Given the description of an element on the screen output the (x, y) to click on. 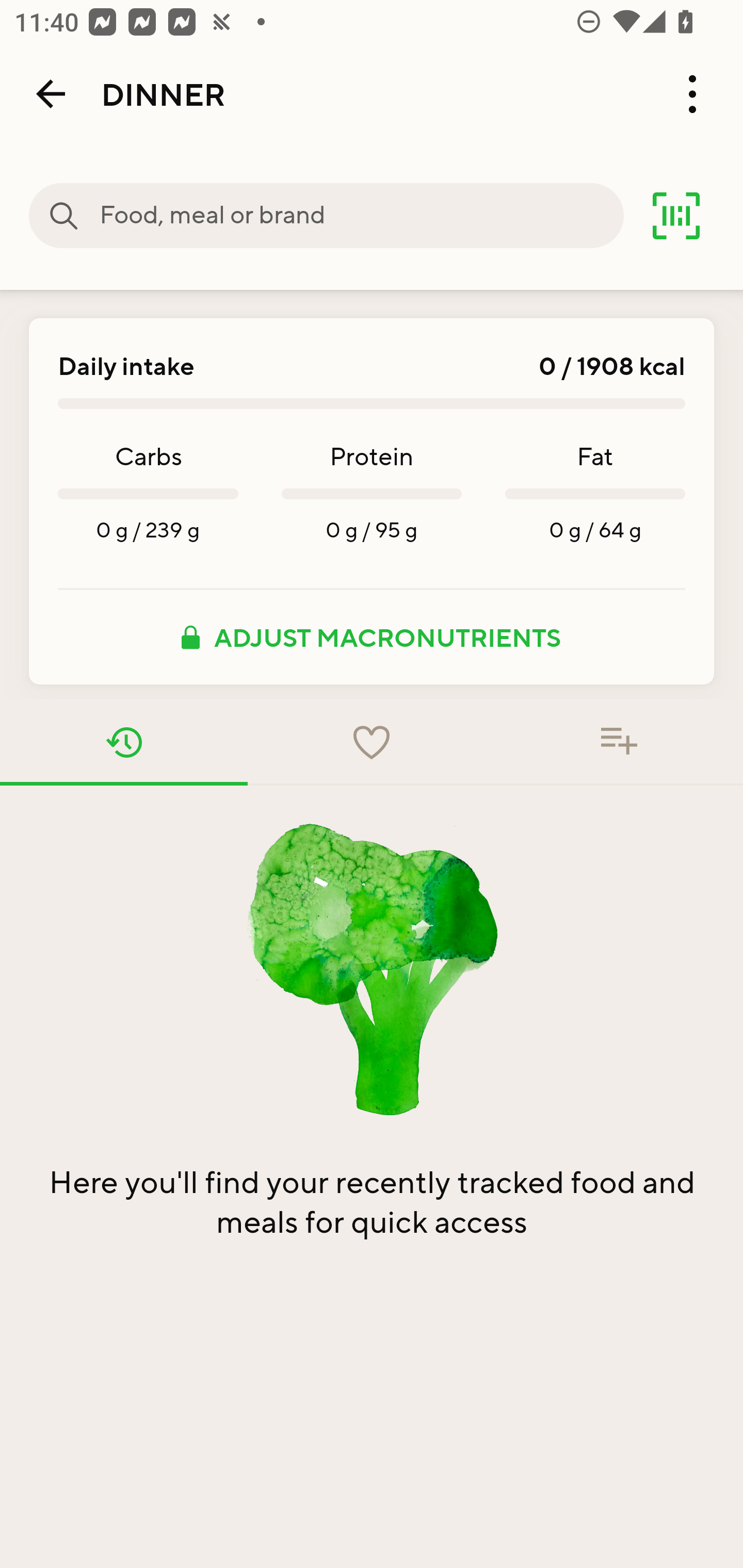
Back (50, 93)
Food, meal or brand (63, 215)
Food, meal or brand (361, 215)
ADJUST MACRONUTRIENTS (371, 637)
Favorites (371, 742)
Food added (619, 742)
